Given the description of an element on the screen output the (x, y) to click on. 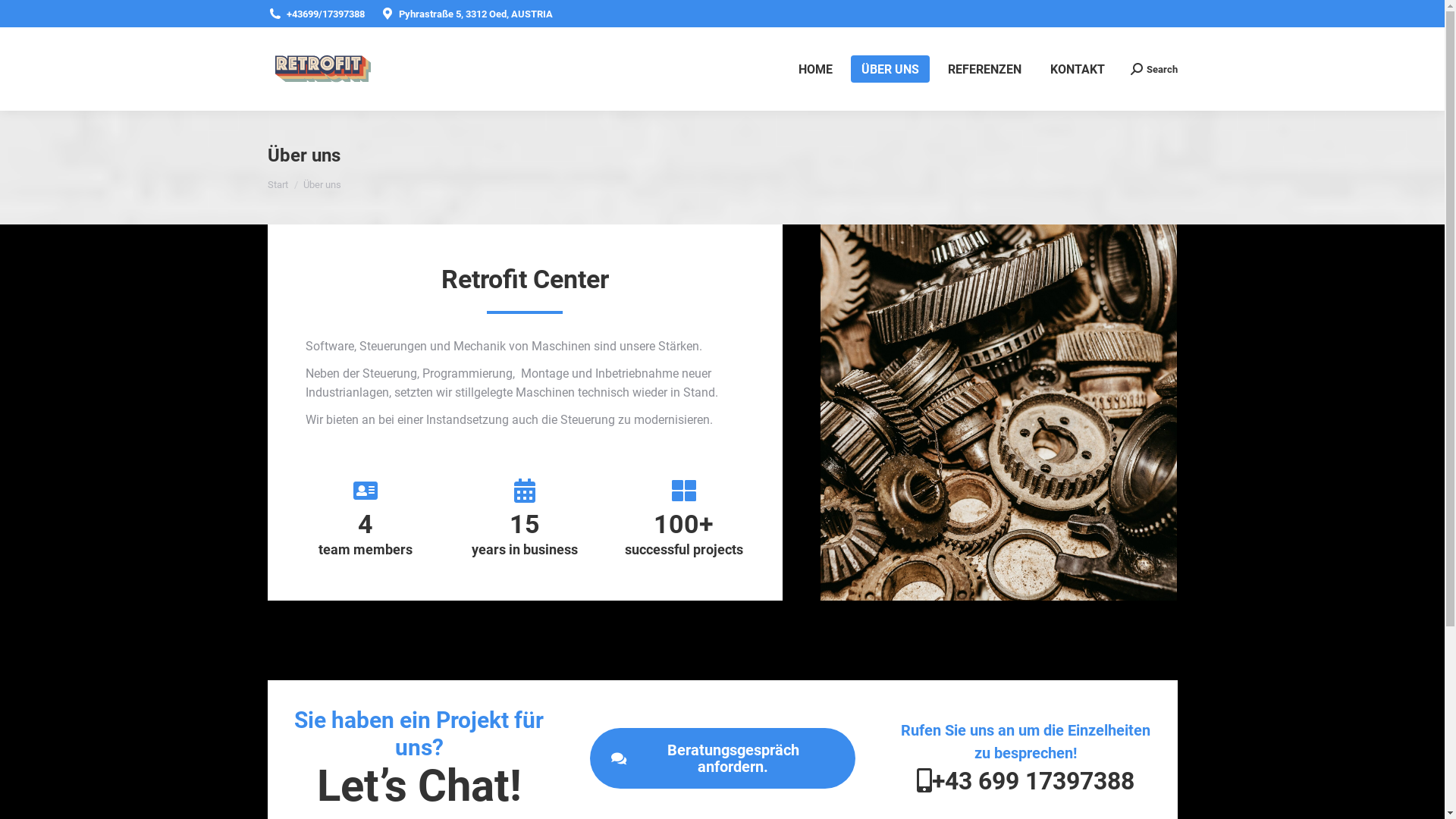
Start Element type: text (276, 184)
KONTAKT Element type: text (1076, 68)
Los! Element type: text (25, 16)
HOME Element type: text (814, 68)
REFERENZEN Element type: text (984, 68)
Search Element type: text (1152, 68)
